Given the description of an element on the screen output the (x, y) to click on. 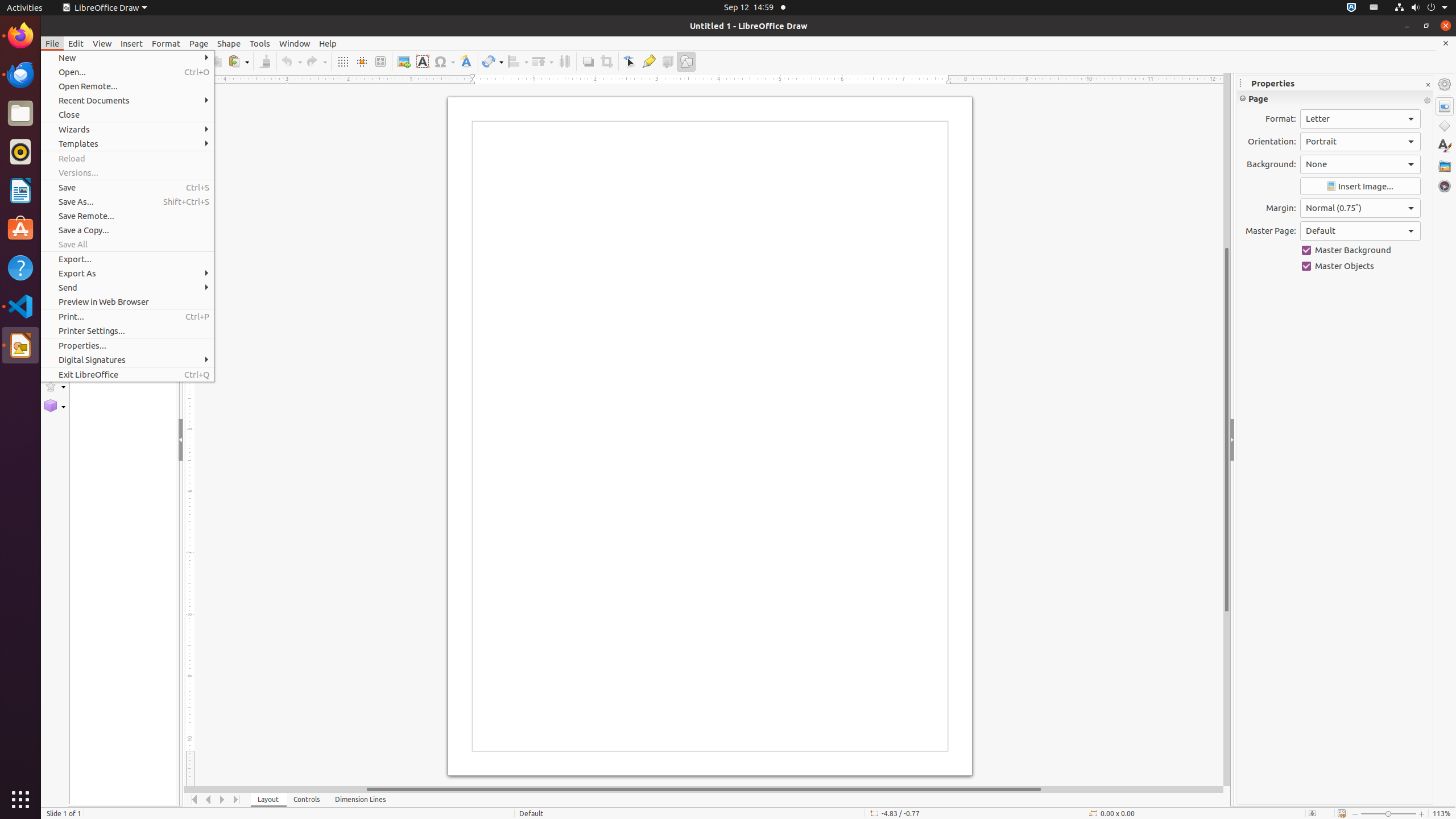
Toggle Extrusion Element type: push-button (667, 61)
Dimension Lines Element type: page-tab (360, 799)
System Element type: menu (1420, 7)
Horizontal scroll bar Element type: scroll-bar (703, 789)
Wizards Element type: menu (127, 129)
